Given the description of an element on the screen output the (x, y) to click on. 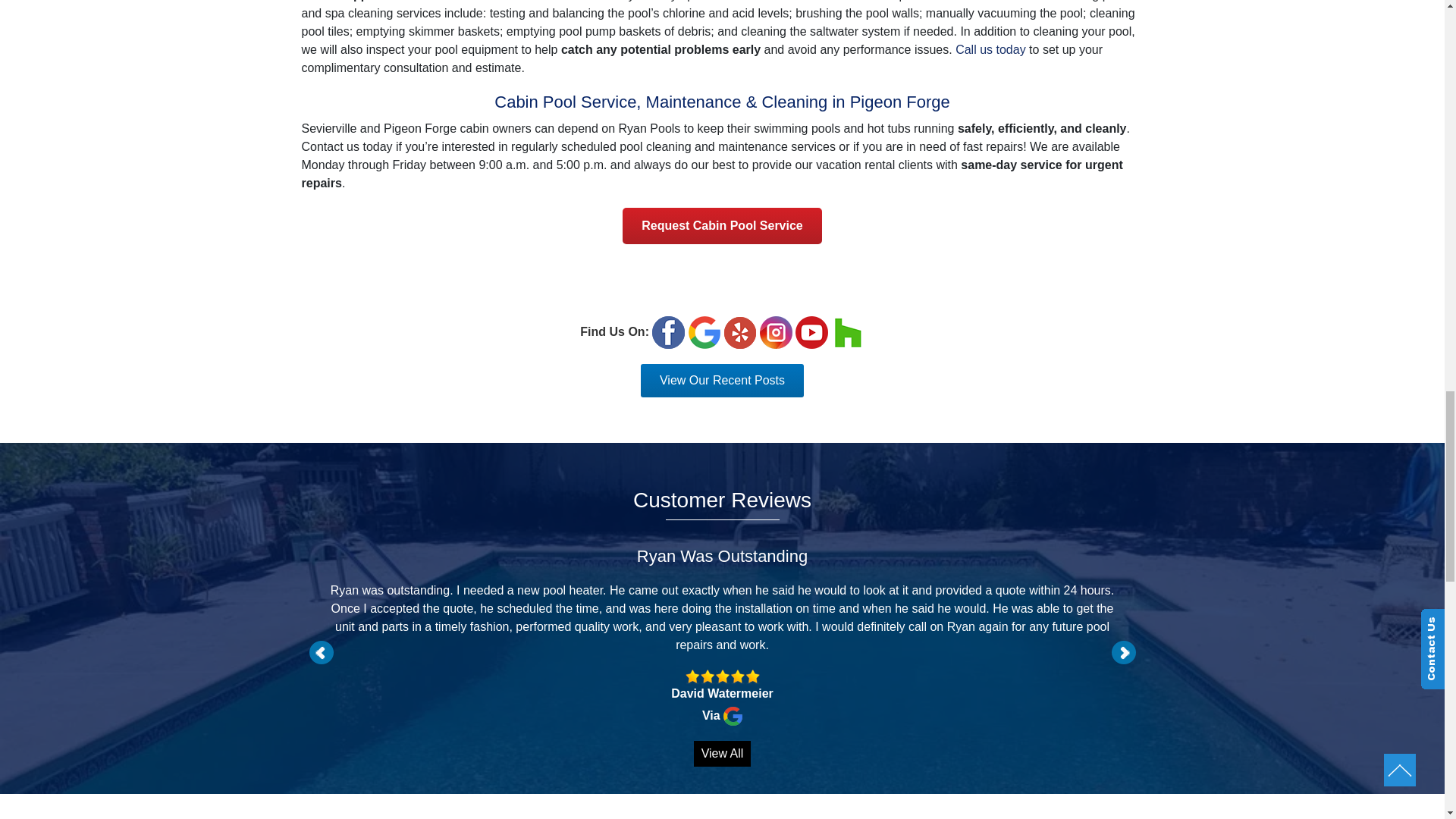
Share Our Original Videos (811, 332)
Follow on Instagram (776, 332)
Post Reviews on Yelp Listing (739, 332)
Houzz - 5 Star Reviews (847, 332)
Call us today (990, 49)
Like Us on Facebook (668, 332)
View Our Recent Posts (721, 380)
Request Cabin Pool Service (722, 226)
View All (722, 753)
